Given the description of an element on the screen output the (x, y) to click on. 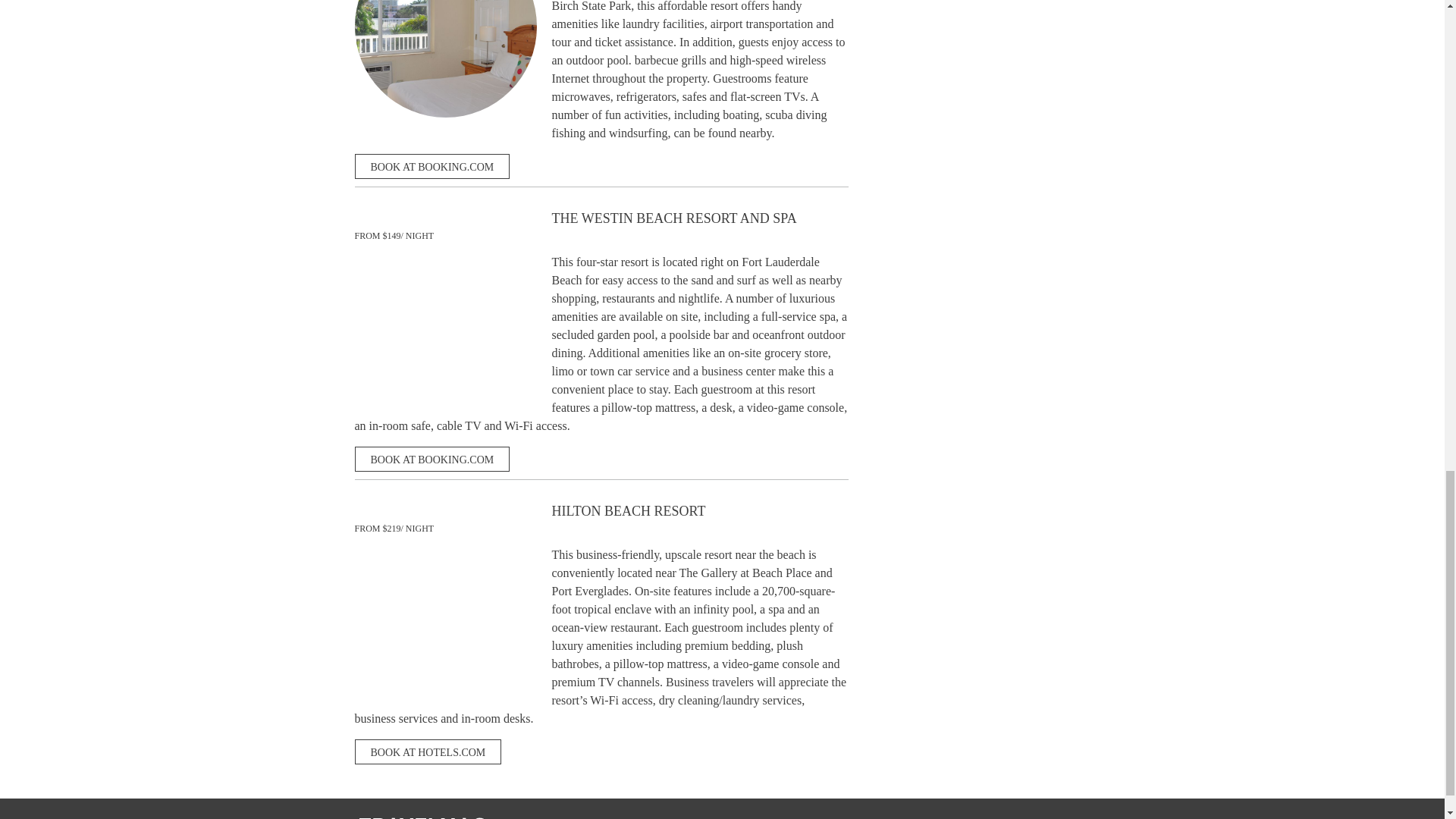
BOOK AT BOOKING.COM (433, 458)
BOOK AT BOOKING.COM (433, 166)
BOOK AT HOTELS.COM (428, 751)
